Given the description of an element on the screen output the (x, y) to click on. 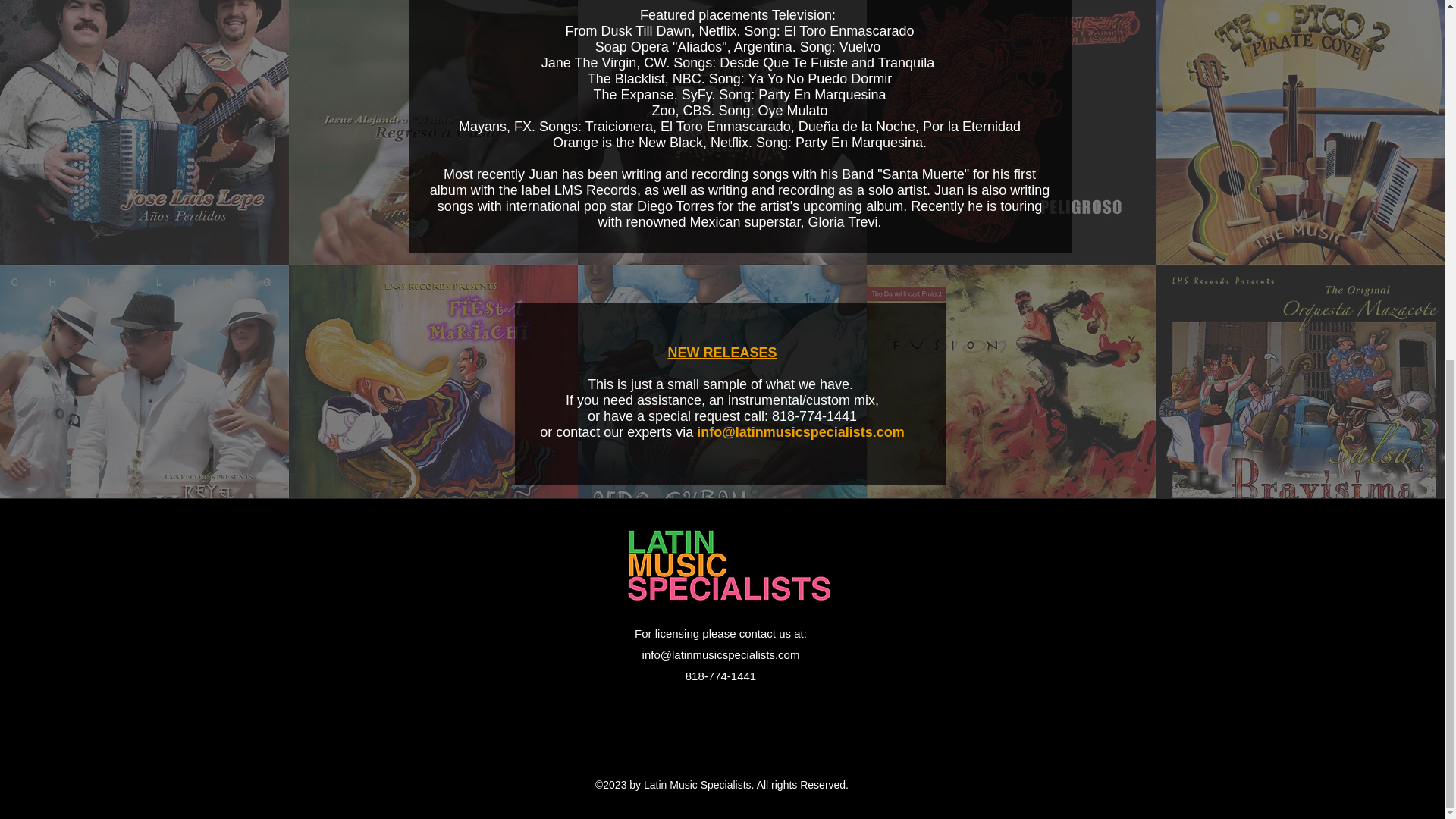
818-774-1441 (720, 675)
For licensing please contact us at: (720, 633)
NEW RELEASES (721, 352)
